Given the description of an element on the screen output the (x, y) to click on. 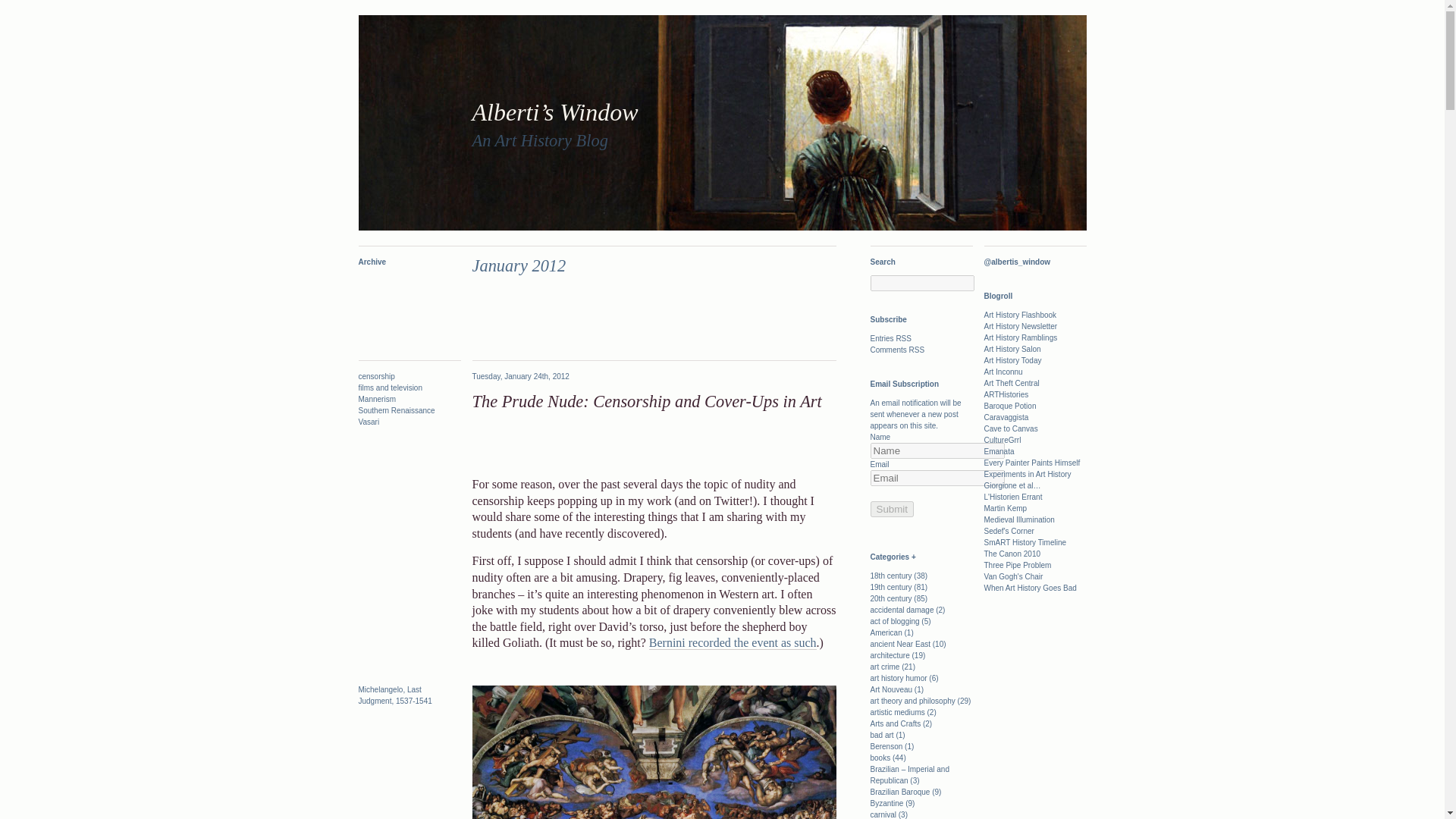
Search (21, 7)
Mannerism (376, 398)
Southern Renaissance (395, 410)
films and television (390, 388)
Vasari (368, 421)
censorship (376, 376)
An Art History Blog (539, 140)
